Given the description of an element on the screen output the (x, y) to click on. 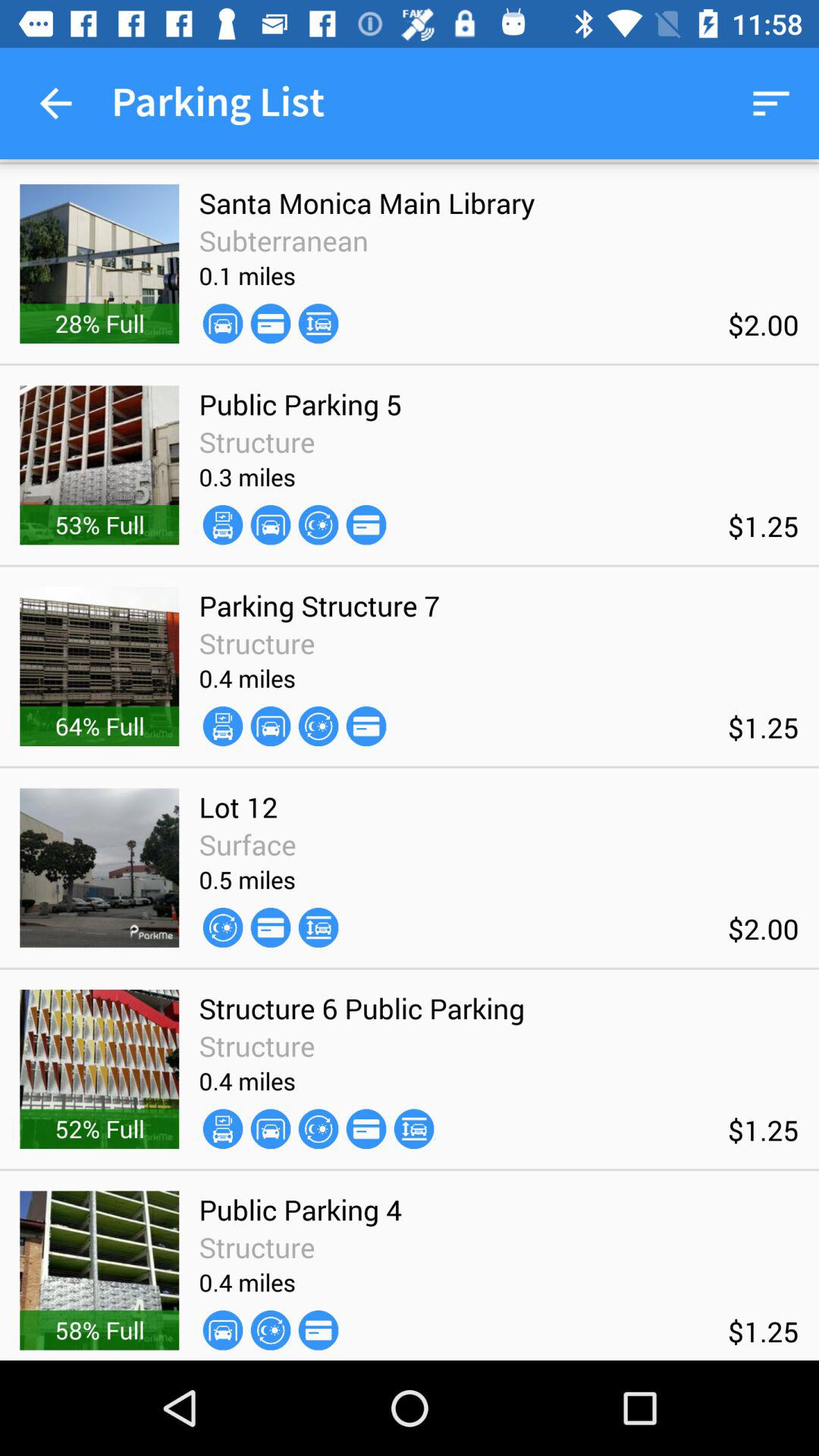
select 52% full (99, 1128)
